Given the description of an element on the screen output the (x, y) to click on. 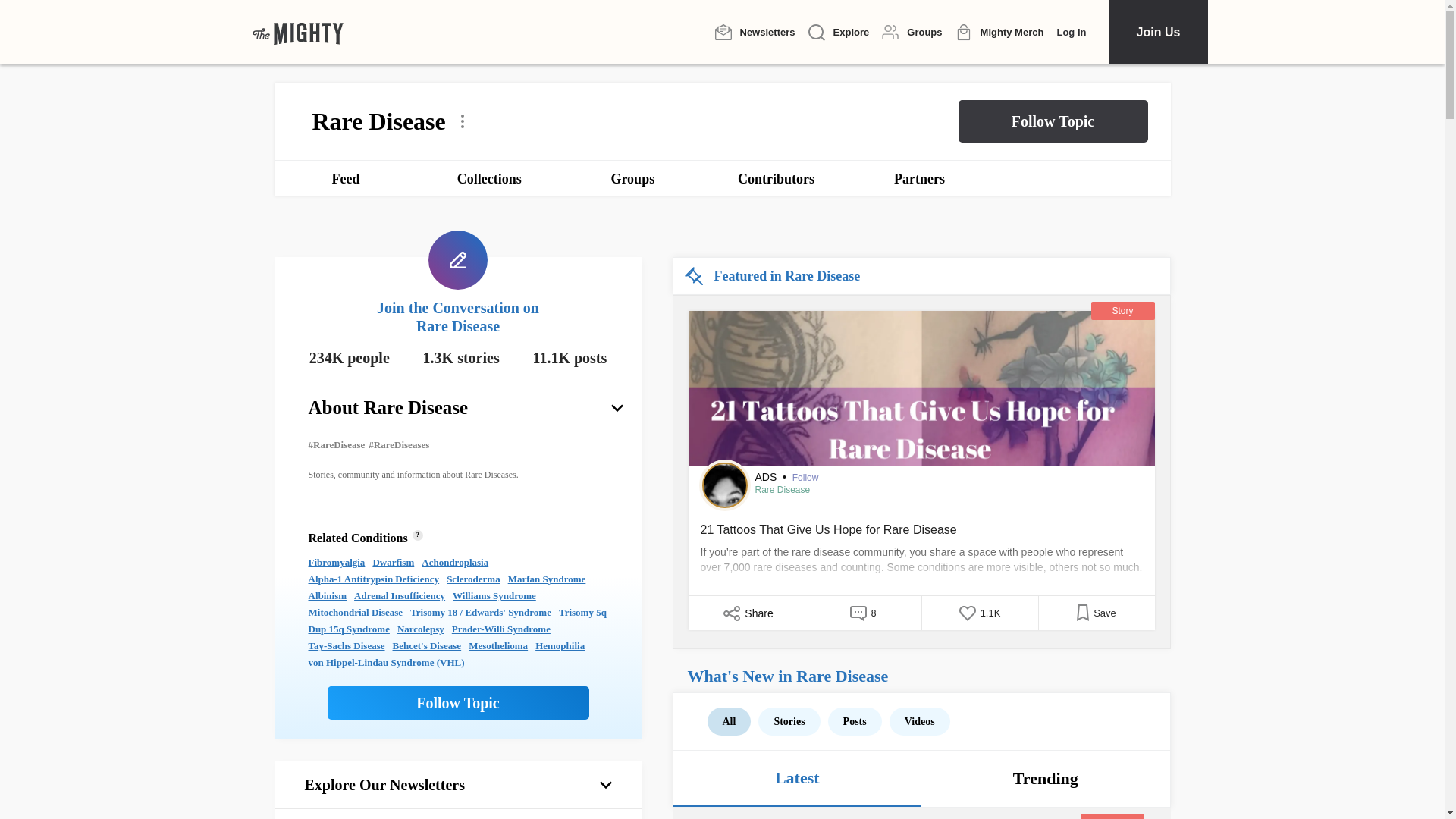
Rare Disease (782, 490)
Trisomy 5q (583, 612)
Hemophilia (560, 646)
Dwarfism (392, 562)
Prader-Willi Syndrome (500, 629)
Join Us (1157, 32)
Alpha-1 Antitrypsin Deficiency (373, 579)
Mighty Merch (999, 32)
Marfan Syndrome (547, 579)
Dup 15q Syndrome (347, 629)
The Mighty (296, 32)
Adrenal Insufficiency (399, 596)
Follow (805, 478)
21 Tattoos That Give Us Hope for Rare Disease  (921, 551)
Newsletters (754, 31)
